Given the description of an element on the screen output the (x, y) to click on. 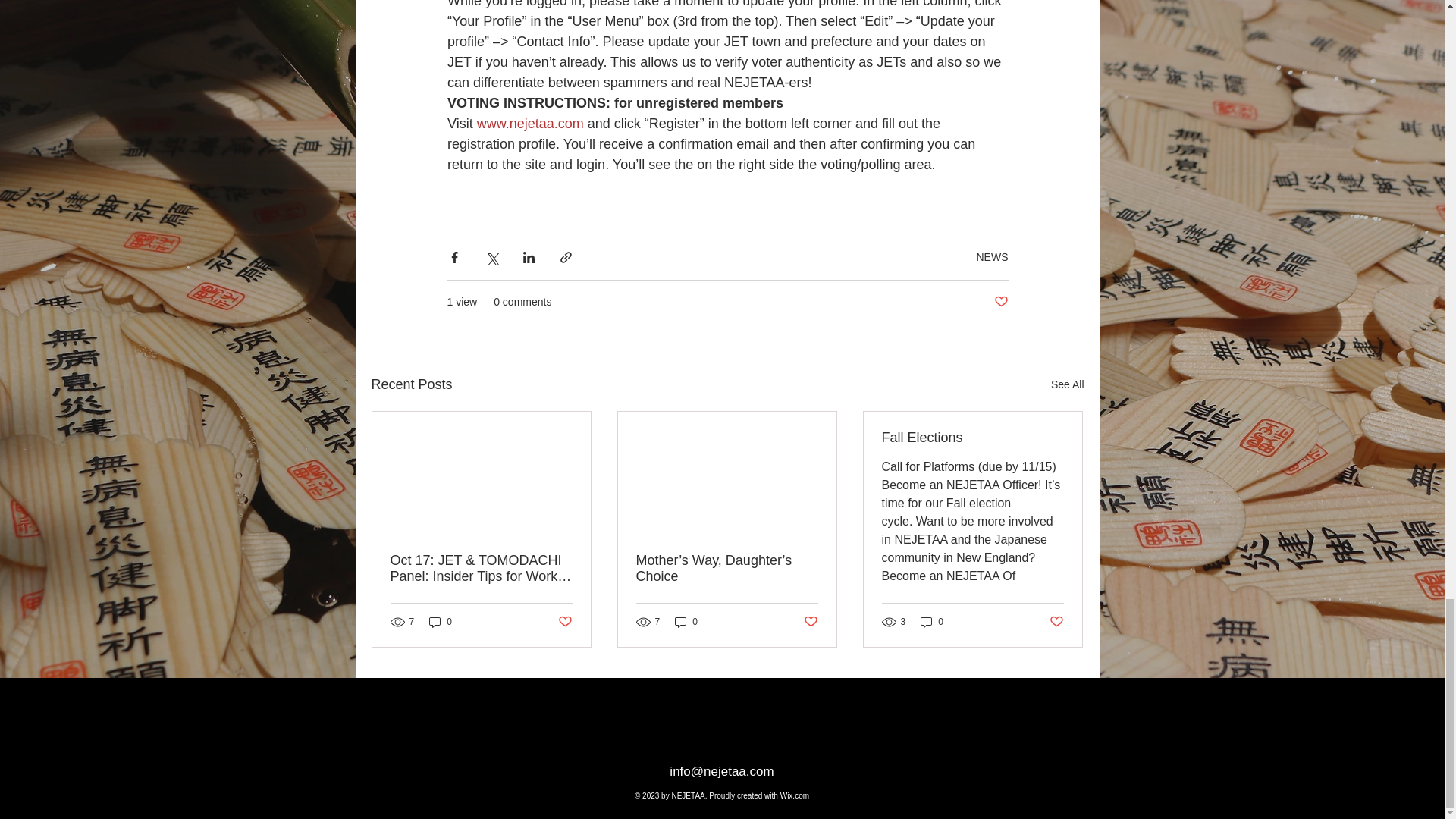
0 (440, 622)
NEWS (992, 256)
www.nejetaa.com (529, 123)
See All (1067, 384)
Post not marked as liked (564, 621)
Post not marked as liked (999, 302)
